Given the description of an element on the screen output the (x, y) to click on. 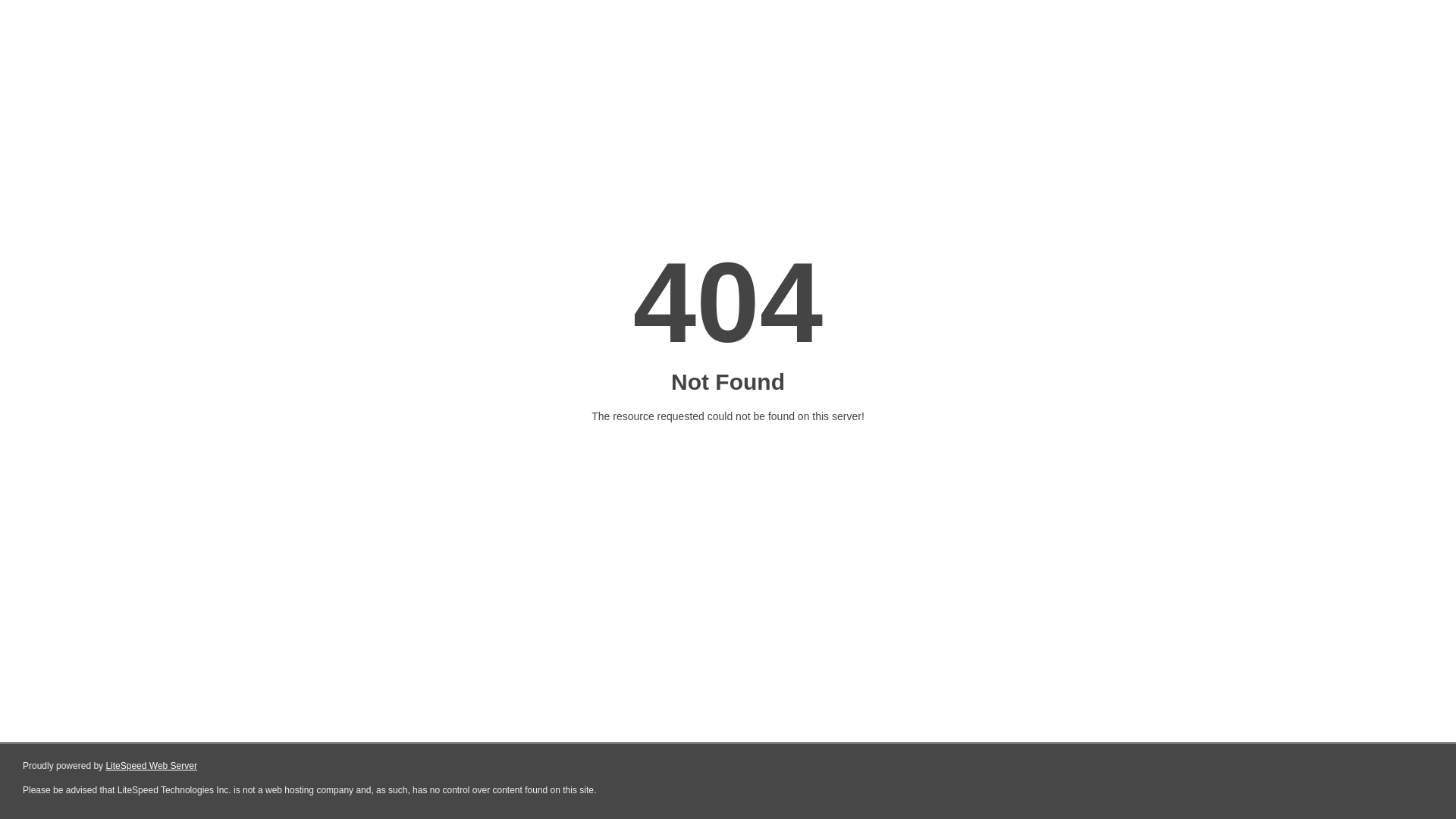
LiteSpeed Web Server Element type: text (151, 765)
